Given the description of an element on the screen output the (x, y) to click on. 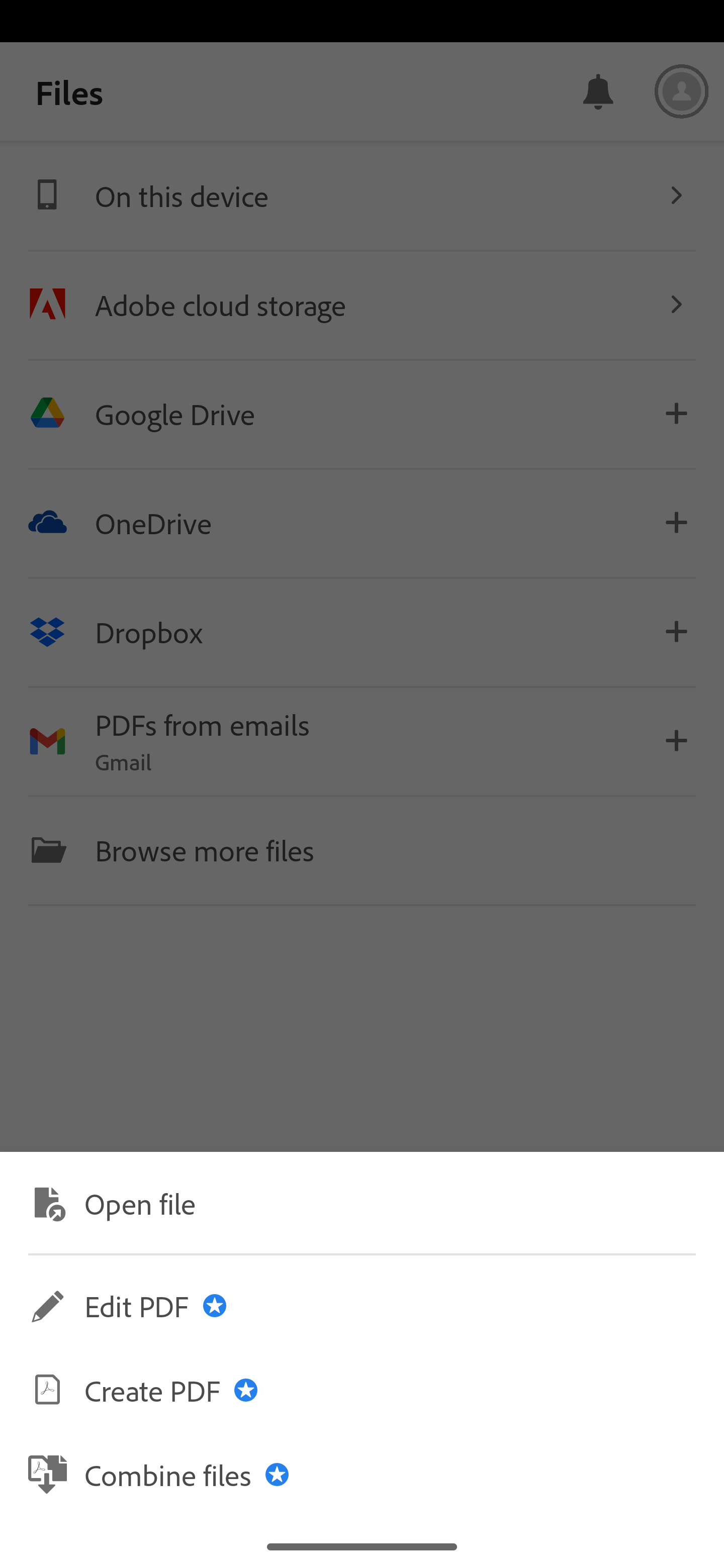
Open file (362, 1202)
Edit PDF Premium (362, 1305)
Create PDF Premium (362, 1389)
Combine files Premium (362, 1473)
